Given the description of an element on the screen output the (x, y) to click on. 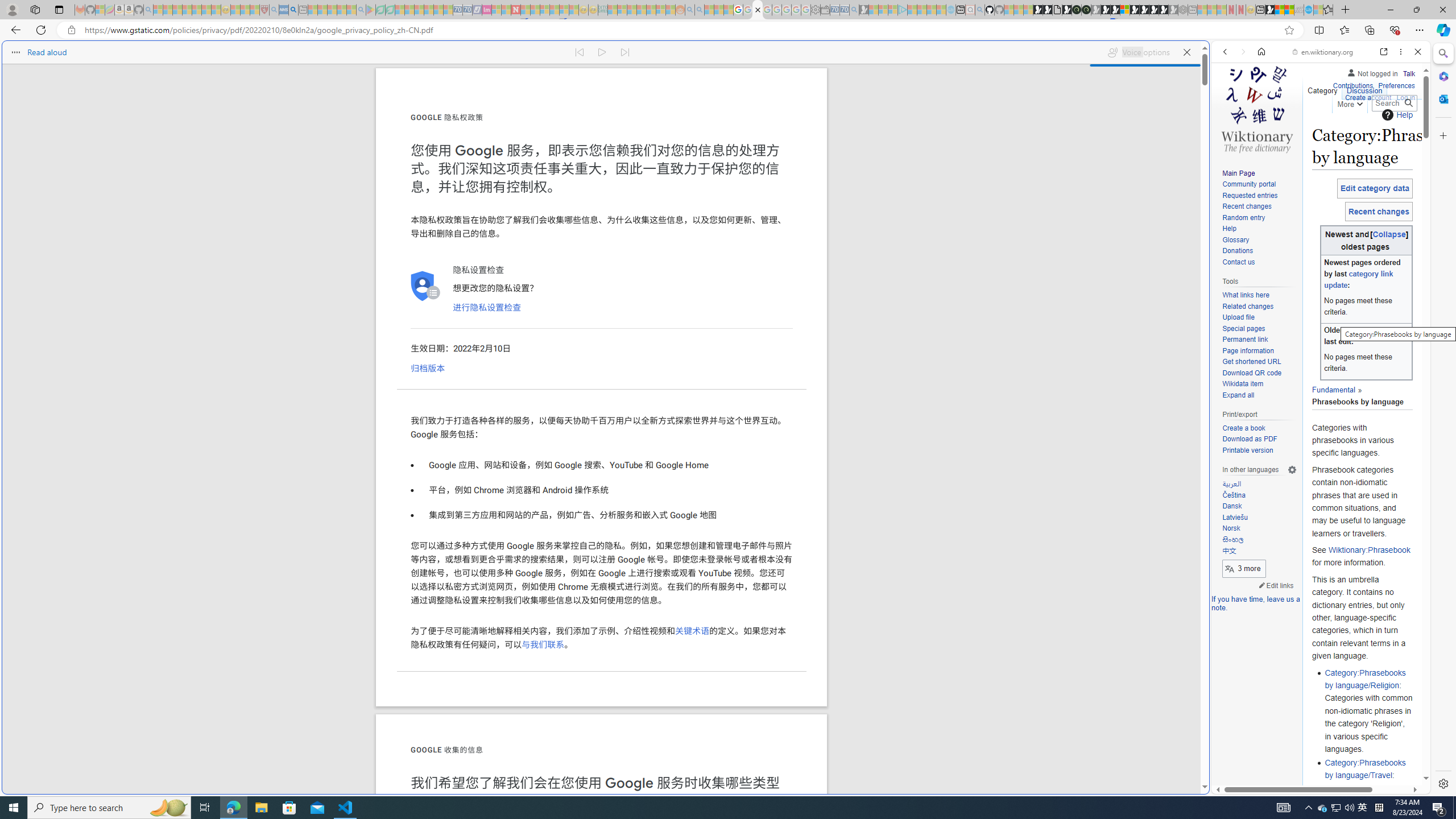
Upload file (1259, 317)
Fundamental (1333, 388)
Special pages (1259, 328)
Wikidata item (1242, 384)
